Given the description of an element on the screen output the (x, y) to click on. 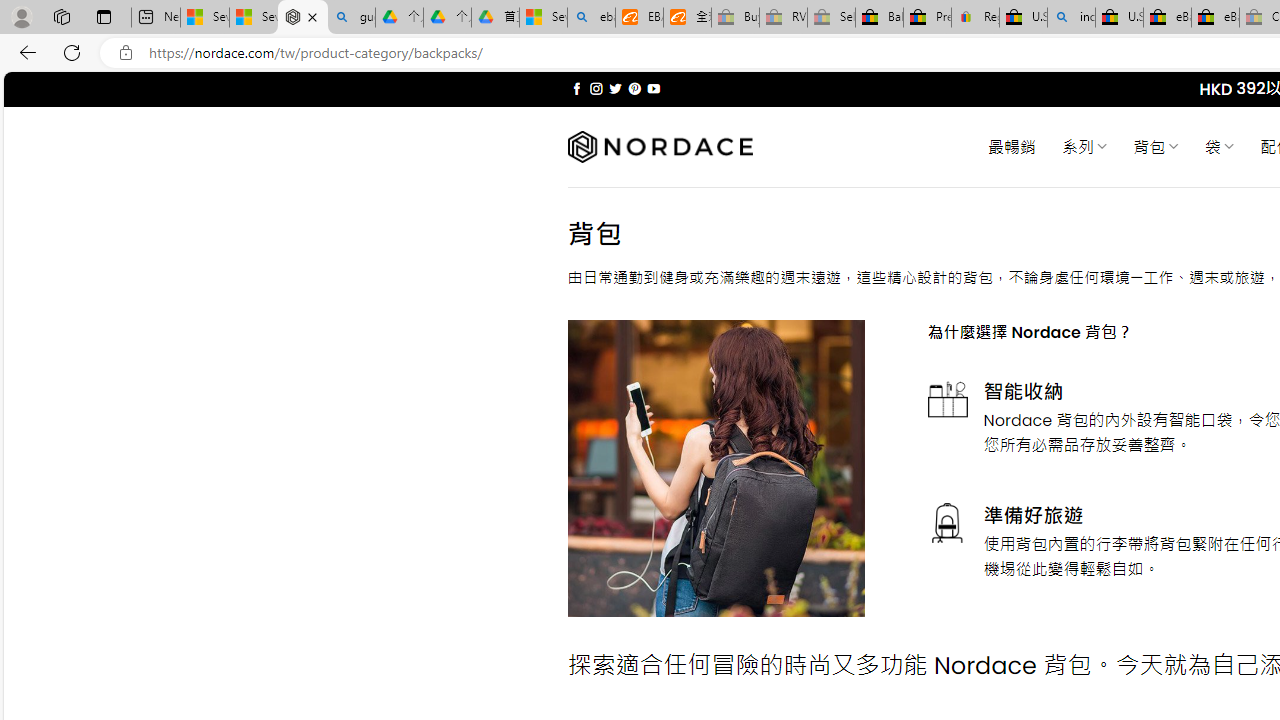
Sell worldwide with eBay - Sleeping (831, 17)
Follow on Pinterest (634, 88)
Baby Keepsakes & Announcements for sale | eBay (879, 17)
eBay Inc. Reports Third Quarter 2023 Results (1215, 17)
Follow on YouTube (653, 88)
Follow on Facebook (576, 88)
Register: Create a personal eBay account (975, 17)
